Given the description of an element on the screen output the (x, y) to click on. 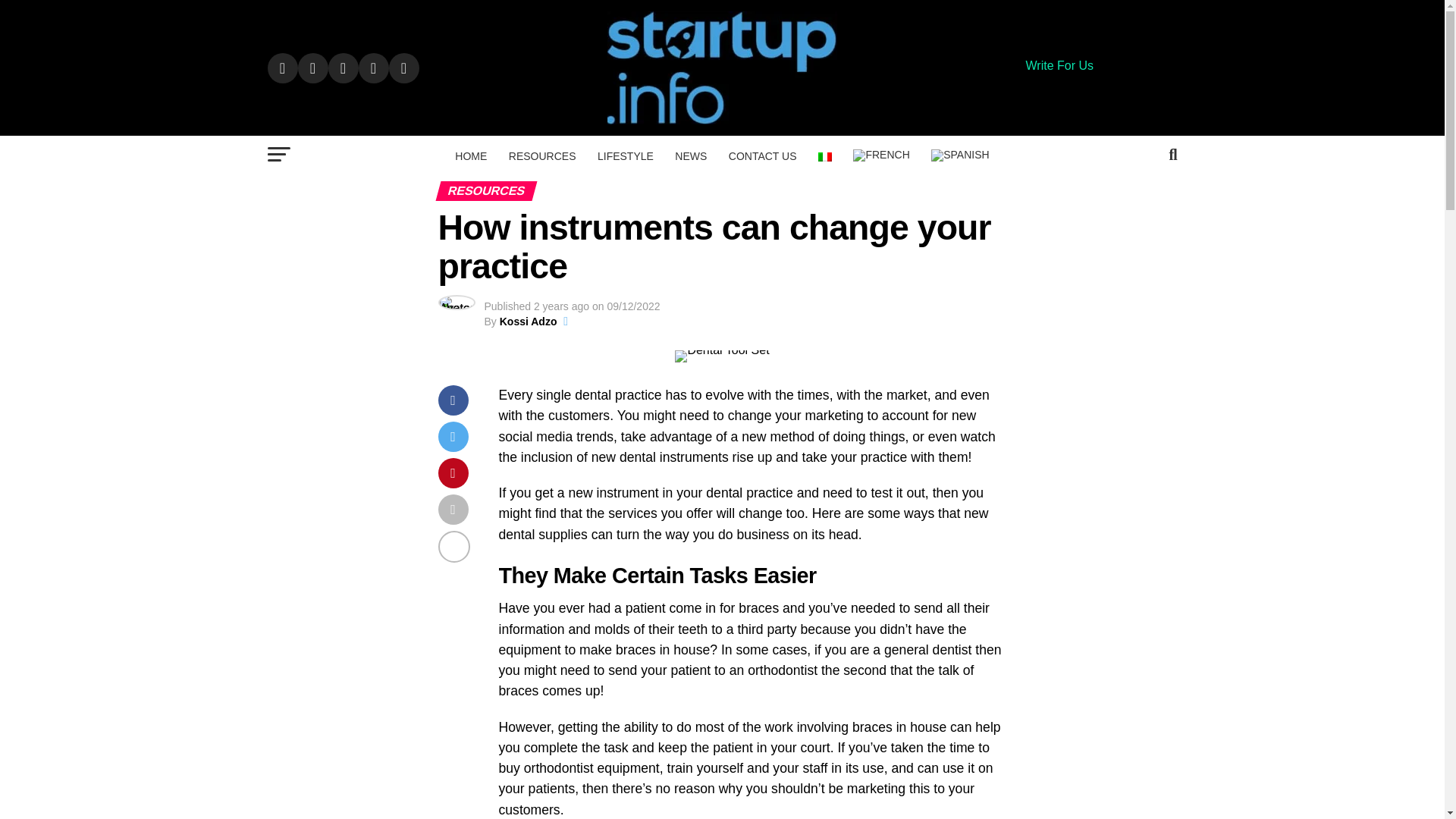
HOME (470, 156)
RESOURCES (542, 156)
Write For Us (1059, 65)
LIFESTYLE (625, 156)
NEWS (690, 156)
